Given the description of an element on the screen output the (x, y) to click on. 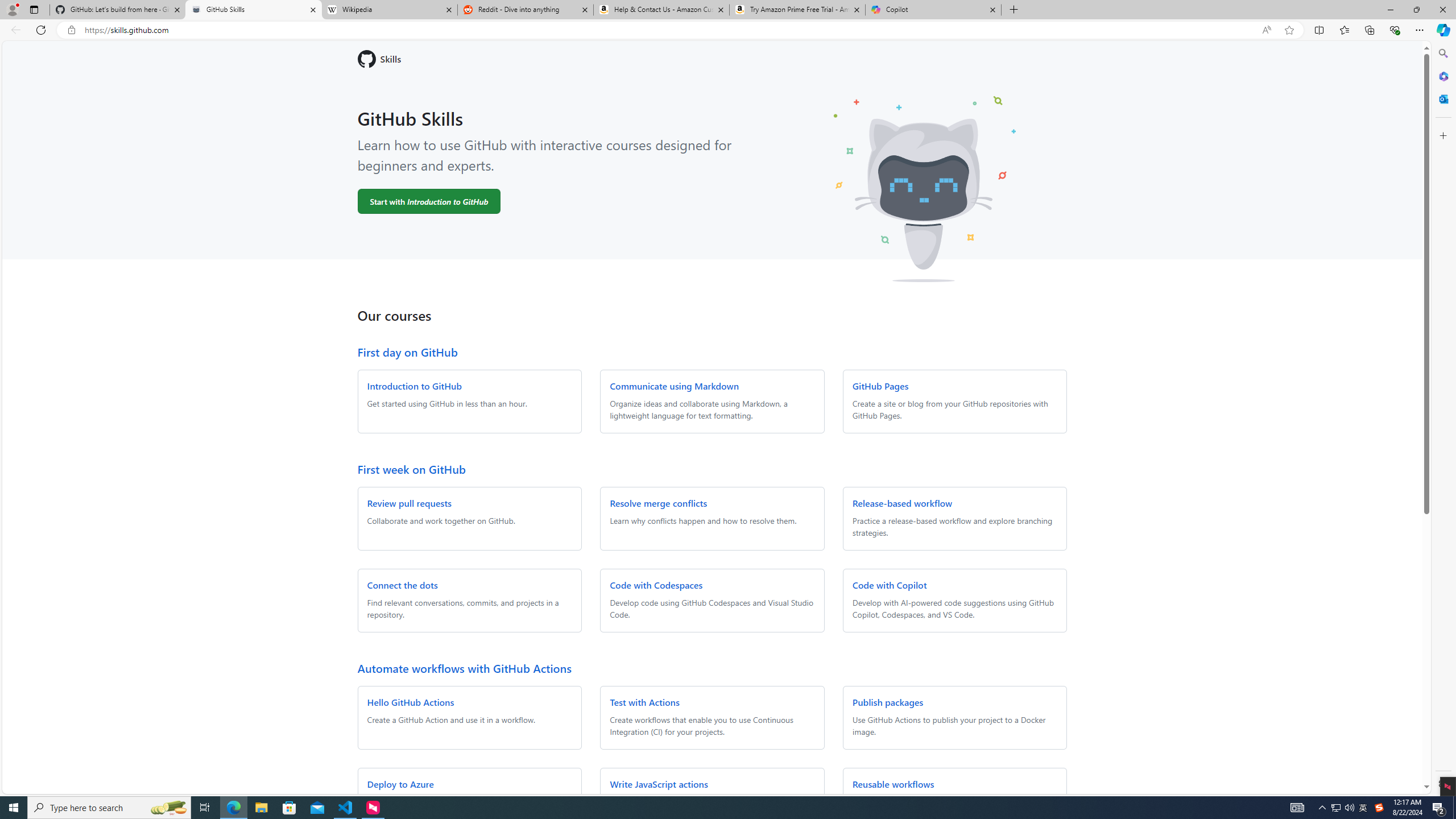
Write JavaScript actions (658, 784)
Code with Copilot (889, 585)
Hello GitHub Actions (410, 702)
Connect the dots (402, 585)
Code with Codespaces (656, 585)
Publish packages (887, 702)
Communicate using Markdown (674, 385)
